Given the description of an element on the screen output the (x, y) to click on. 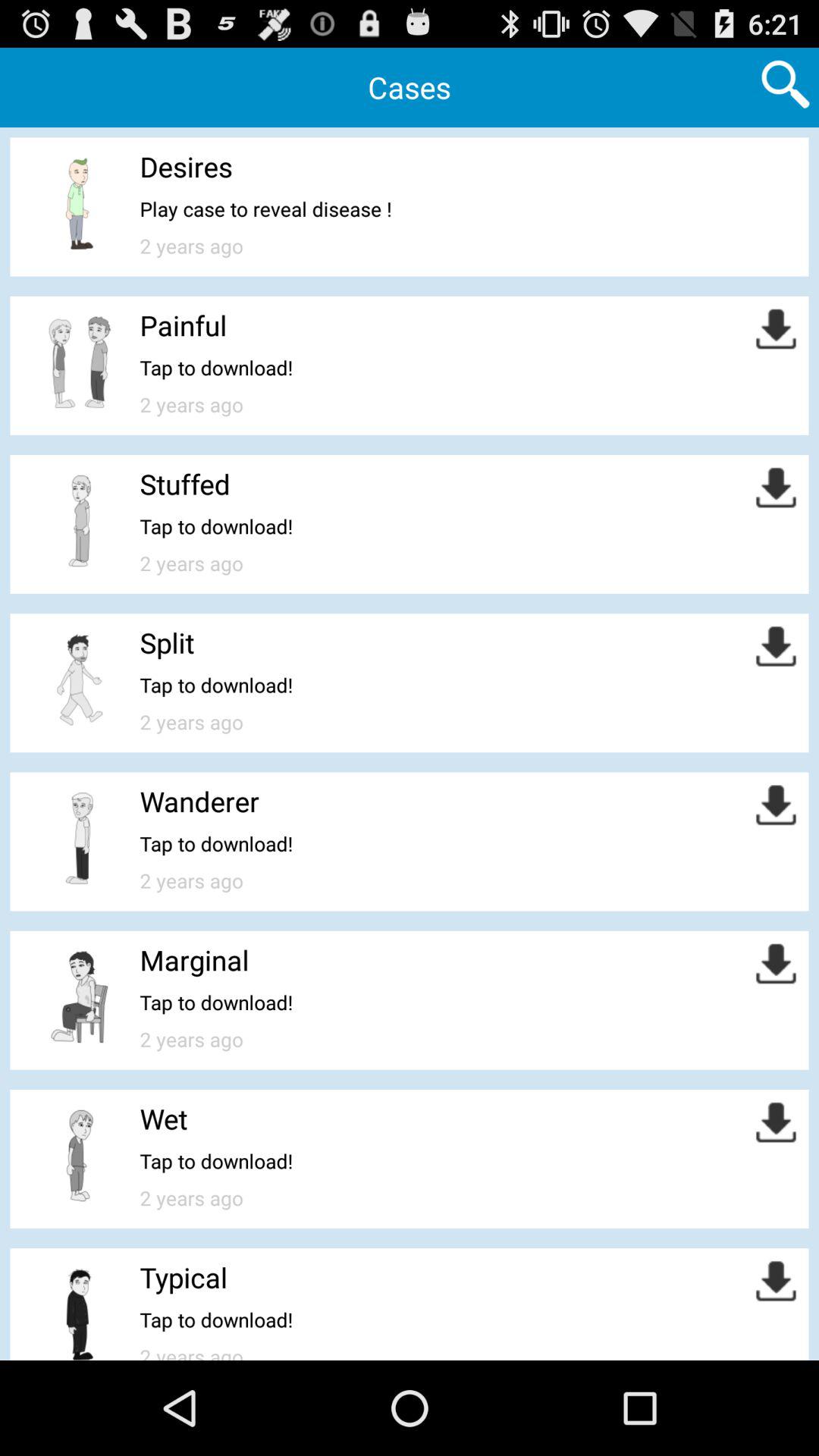
turn off the app above the tap to download! (194, 959)
